Given the description of an element on the screen output the (x, y) to click on. 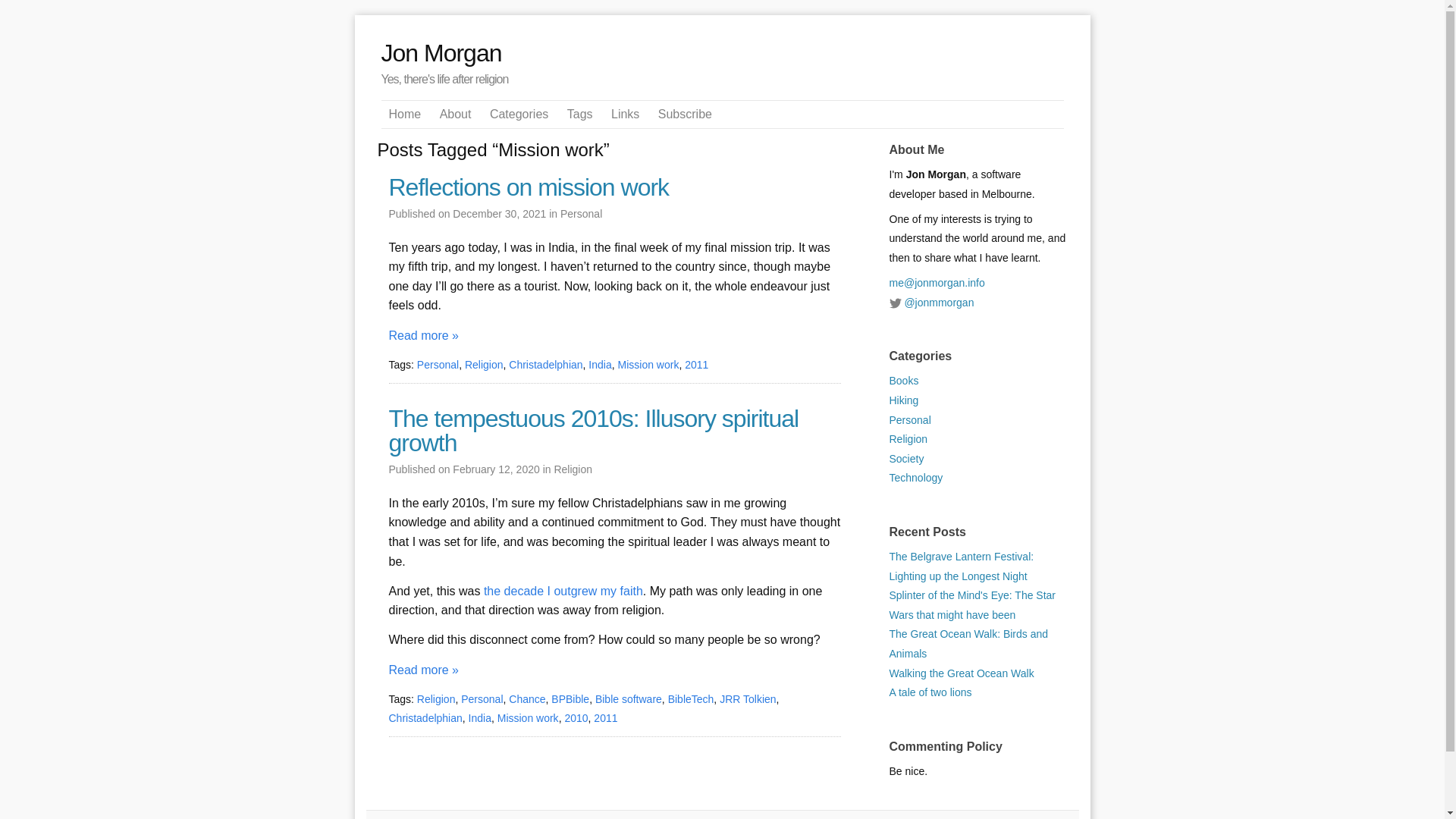
JRR Tolkien (747, 698)
Religion (483, 364)
Books (903, 380)
2011 (695, 364)
India (480, 717)
the decade I outgrew my faith (563, 590)
Religion (572, 469)
Home (404, 113)
Religion (483, 364)
Religion (907, 439)
Personal (437, 364)
About (455, 113)
2011 (605, 717)
Chance (526, 698)
Religion (435, 698)
